Given the description of an element on the screen output the (x, y) to click on. 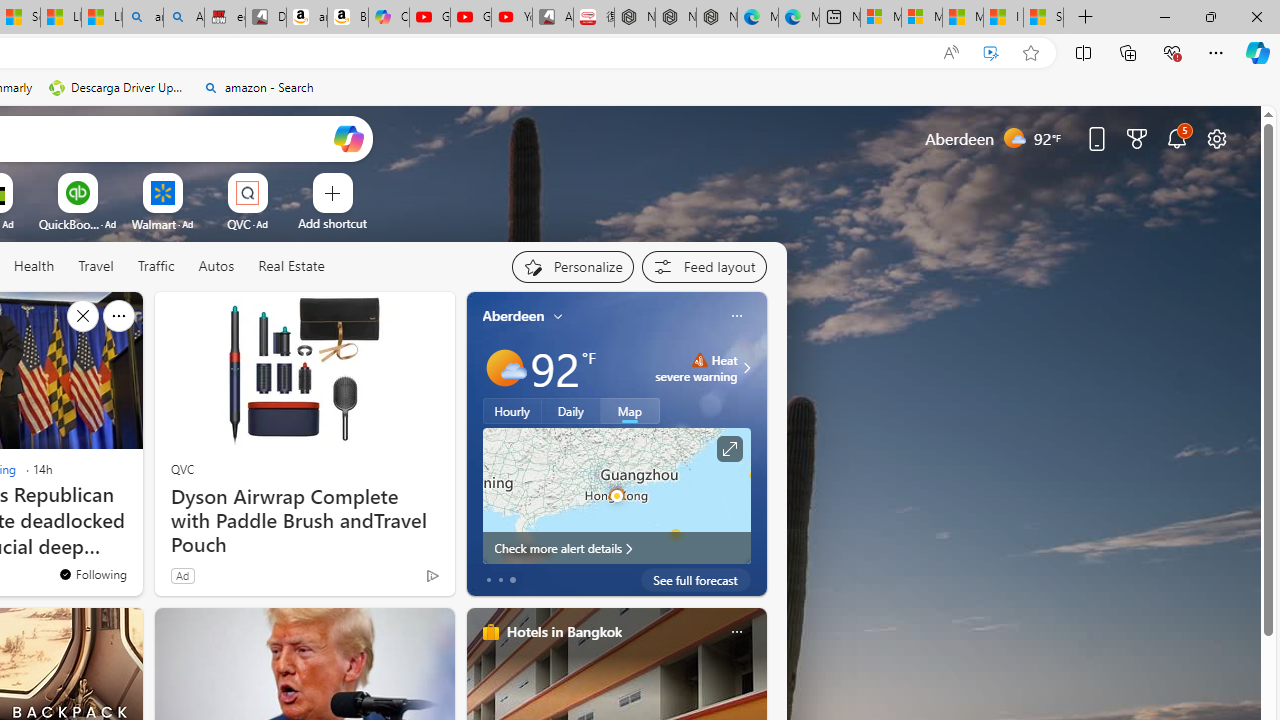
Browser essentials (1171, 52)
amazon - Search (258, 88)
All Cubot phones (552, 17)
Restore (1210, 16)
Class: weather-arrow-glyph (746, 367)
More options (736, 631)
Close (1256, 16)
See more (118, 315)
Health (33, 267)
Health (34, 265)
Enhance video (991, 53)
Heat - Severe Heat severe warning (696, 367)
YouTube Kids - An App Created for Kids to Explore Content (511, 17)
Map (630, 411)
